Given the description of an element on the screen output the (x, y) to click on. 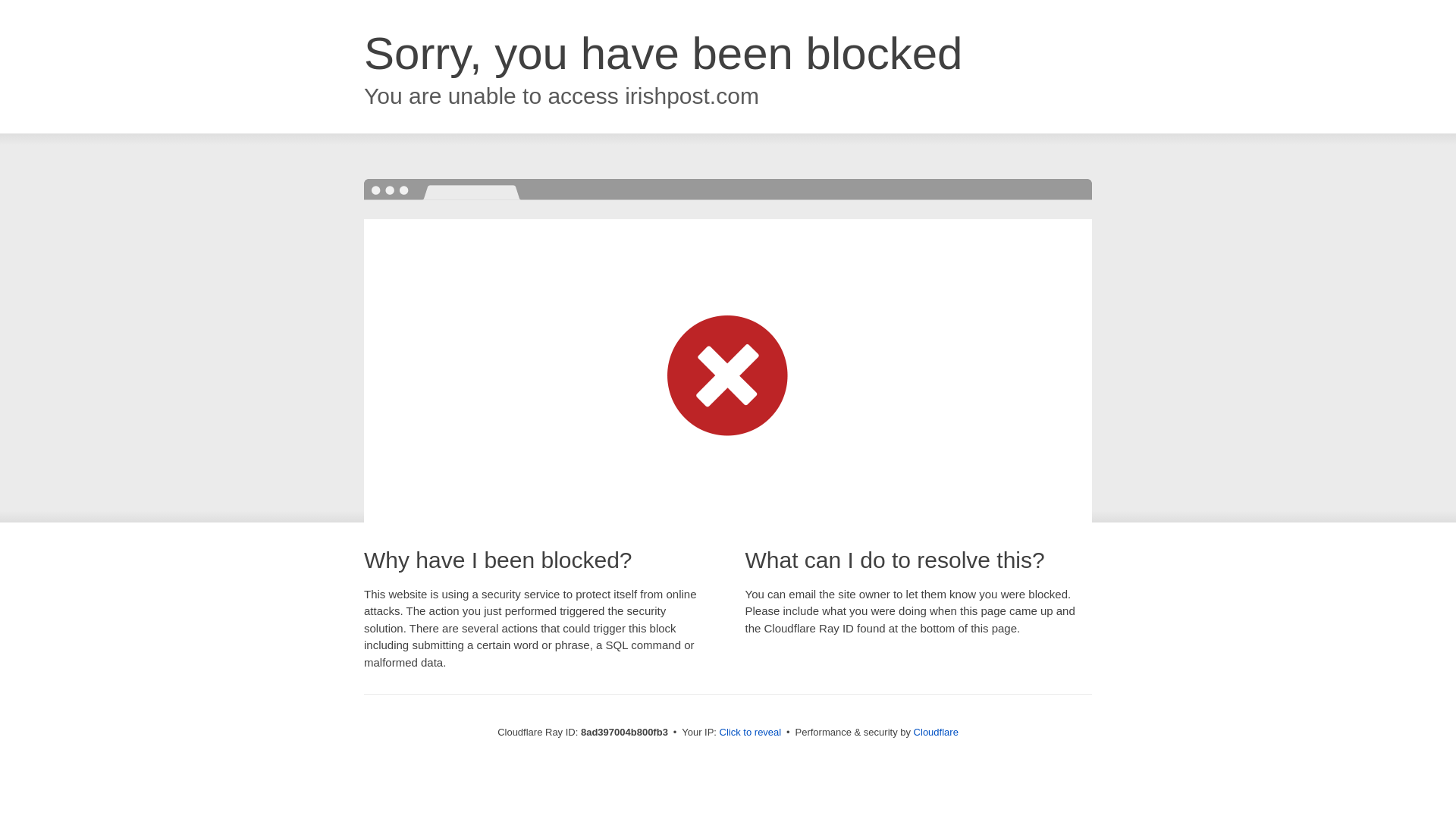
Cloudflare (936, 731)
Click to reveal (750, 732)
